Given the description of an element on the screen output the (x, y) to click on. 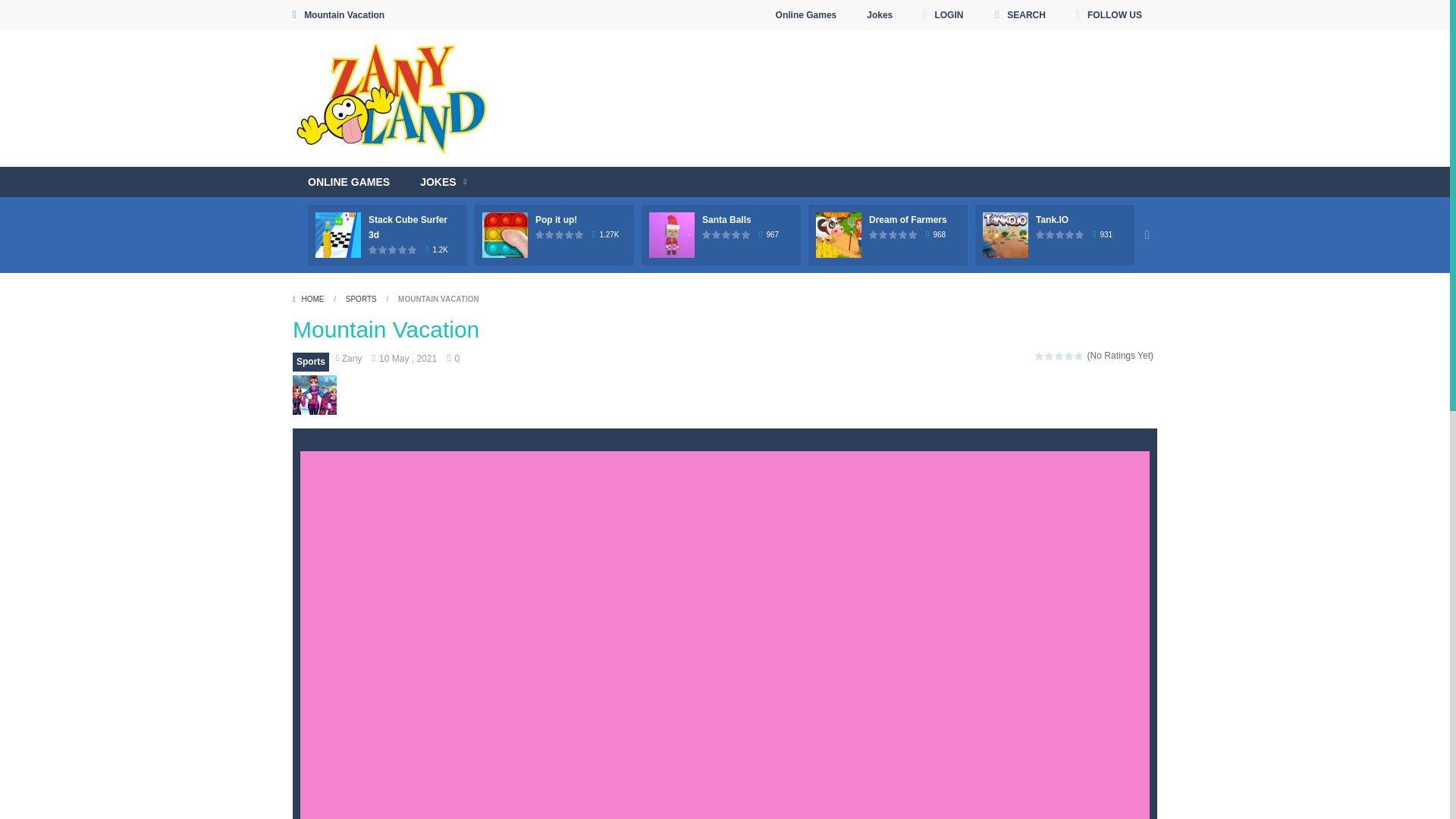
ONLINE GAMES (348, 182)
Play Free Games at ZanyLand (394, 98)
0 votes, average: 0.00 out of 5 (549, 234)
0 votes, average: 0.00 out of 5 (392, 249)
YouTube video player (817, 160)
SEARCH (1019, 15)
Online Games (806, 15)
0 votes, average: 0.00 out of 5 (383, 249)
0 votes, average: 0.00 out of 5 (412, 249)
JOKES (442, 182)
